Given the description of an element on the screen output the (x, y) to click on. 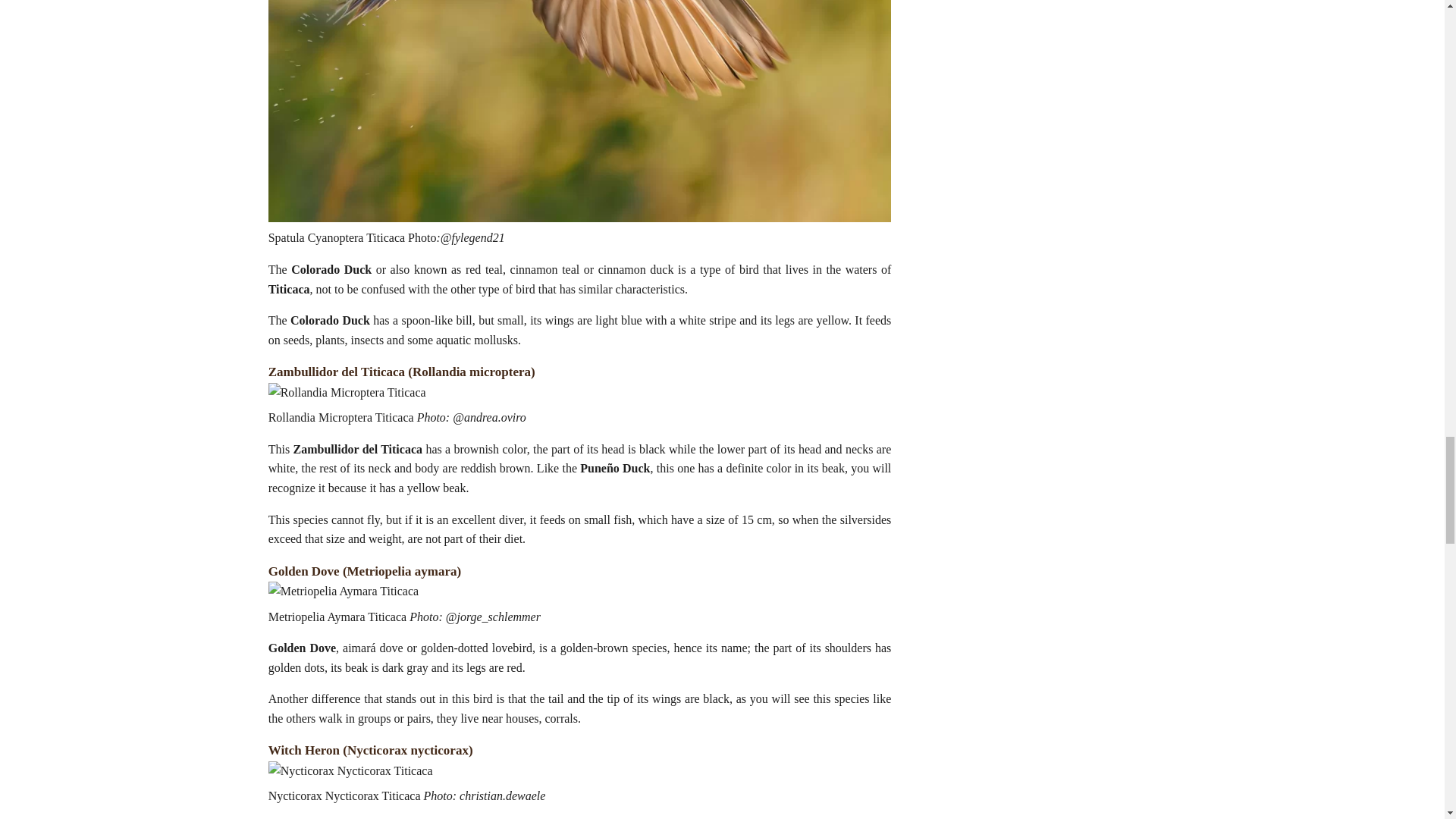
What birds to see in Lake Titicaca? Birdwatching (349, 771)
What birds to see in Lake Titicaca? Birdwatching (343, 591)
What birds to see in Lake Titicaca? Birdwatching (346, 392)
